Given the description of an element on the screen output the (x, y) to click on. 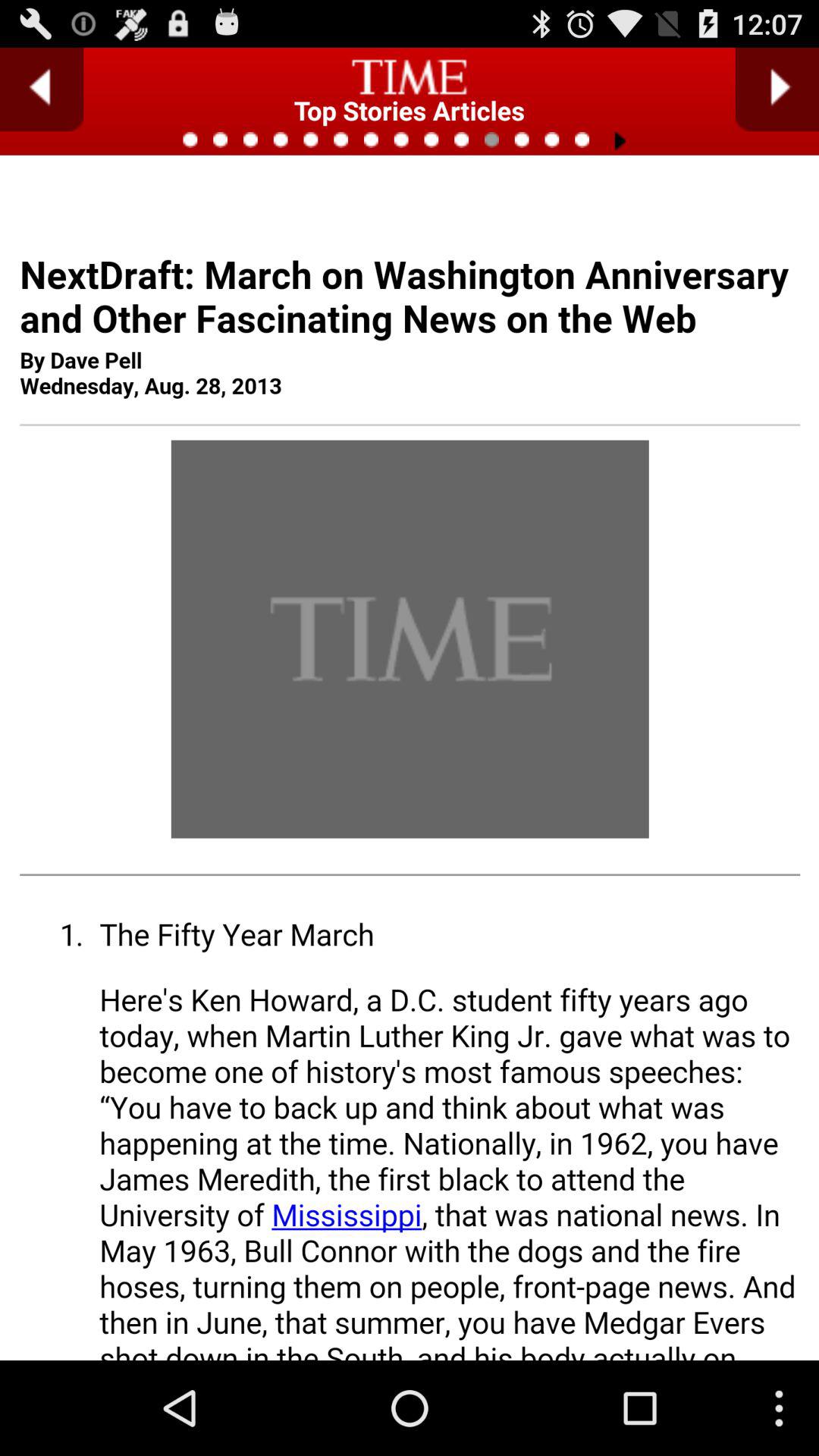
toggle autoplay option (777, 89)
